Given the description of an element on the screen output the (x, y) to click on. 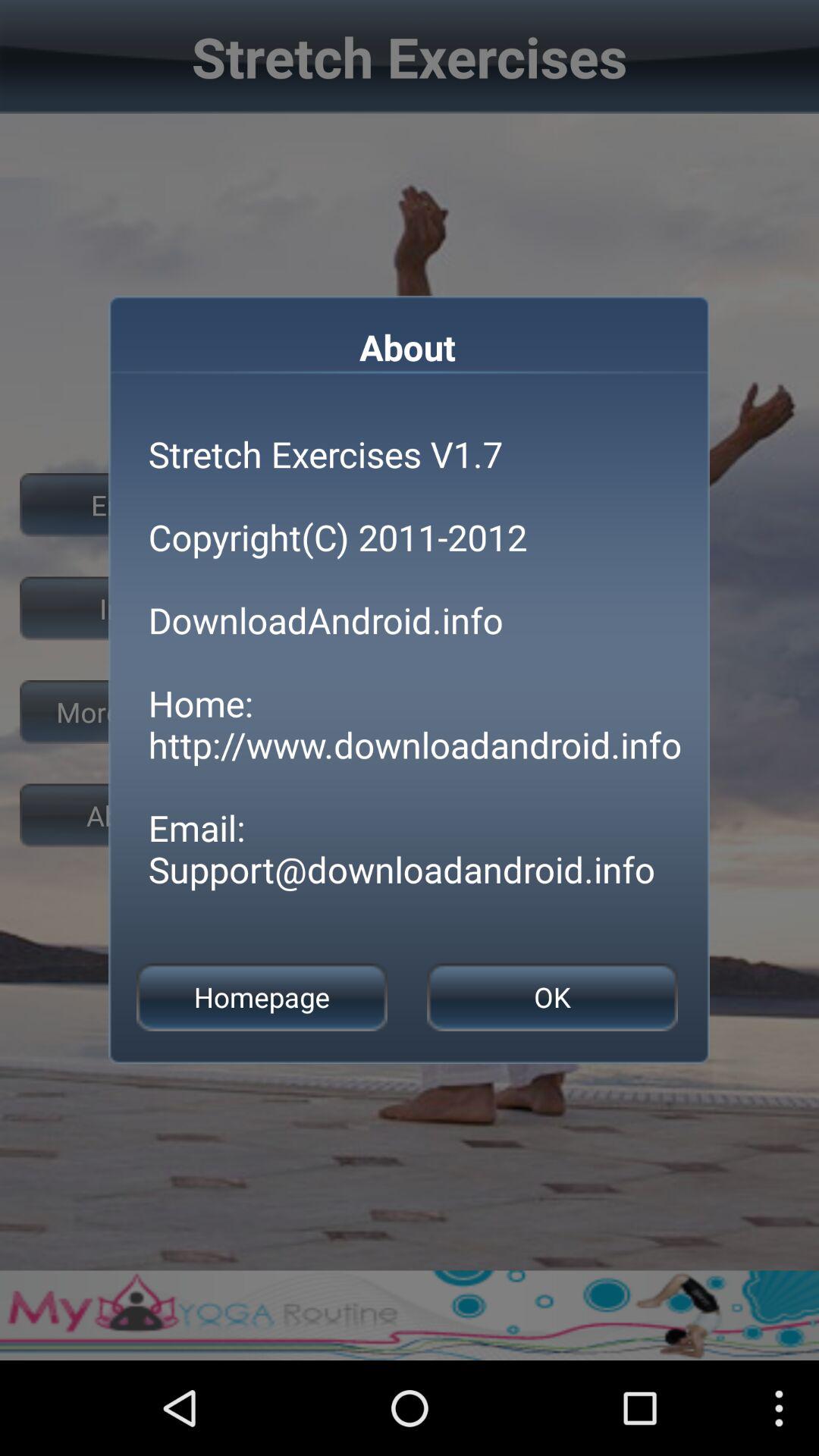
jump to the homepage (261, 997)
